Given the description of an element on the screen output the (x, y) to click on. 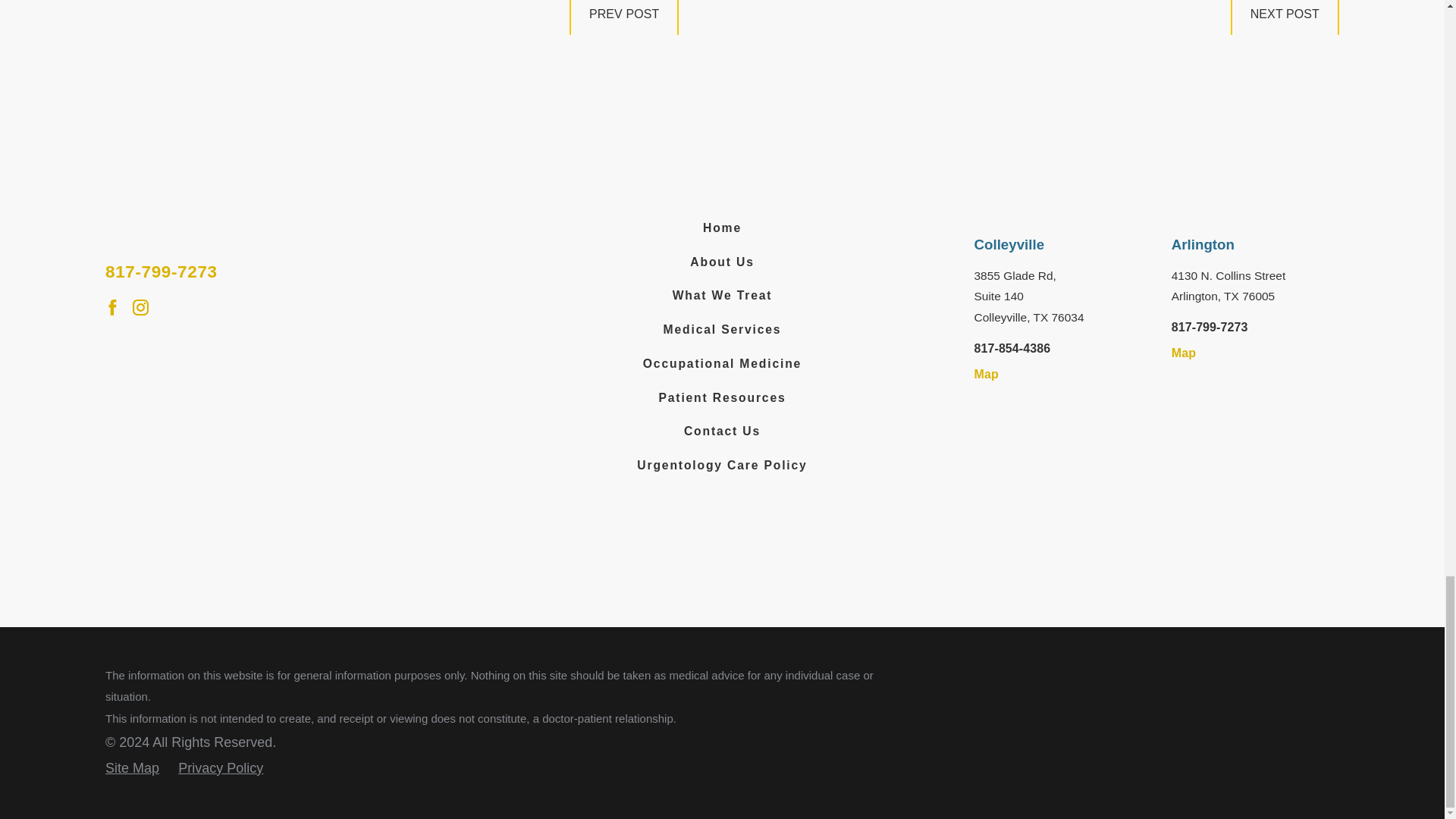
Facebook (112, 307)
Instagram (140, 307)
